Given the description of an element on the screen output the (x, y) to click on. 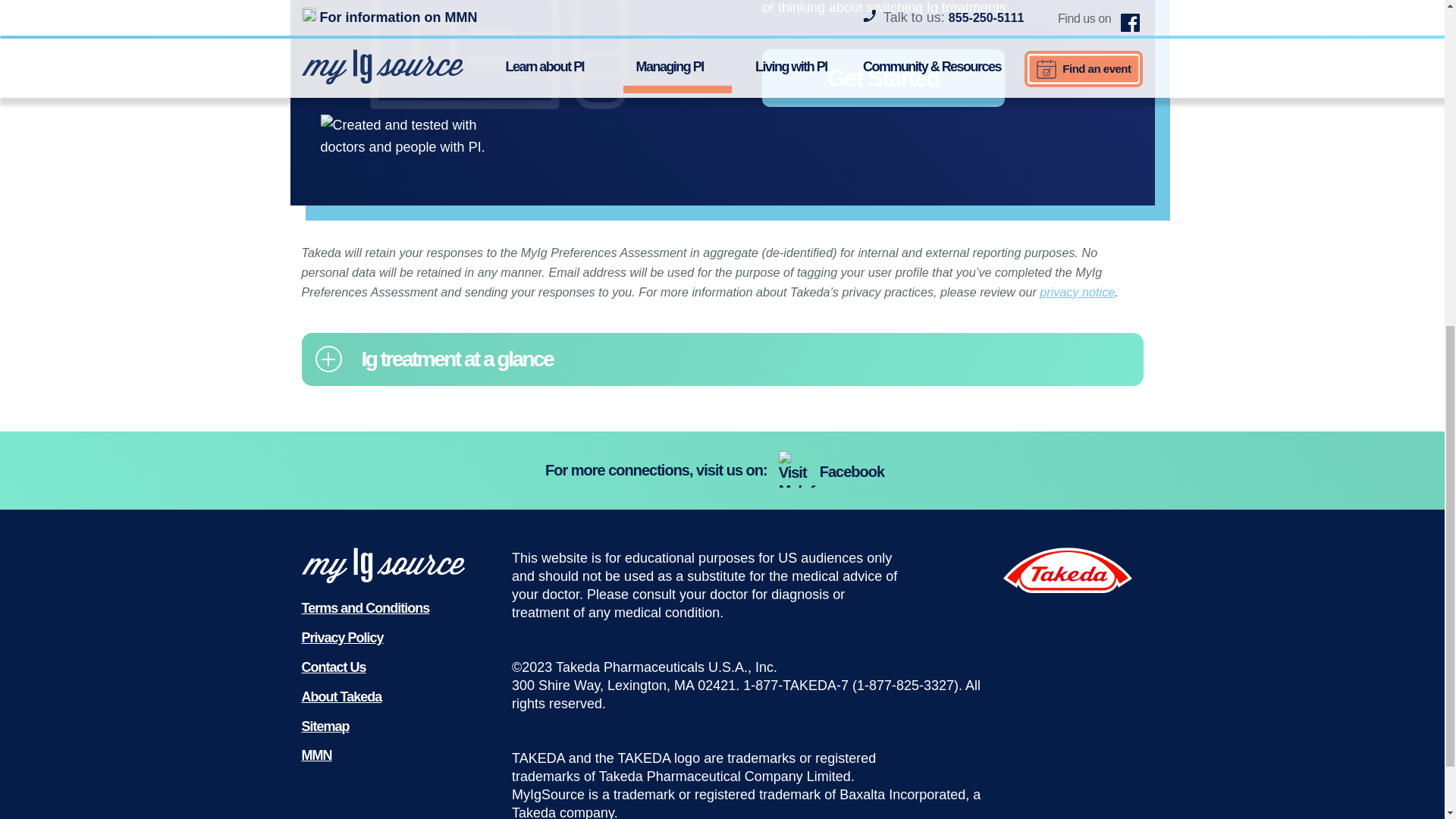
Sitemap (325, 726)
MMN (316, 754)
privacy notice (1077, 291)
Contact Us (333, 667)
Get Started (882, 78)
Privacy Policy (342, 637)
Terms and Conditions (365, 607)
About Takeda (341, 696)
Facebook (833, 471)
